Given the description of an element on the screen output the (x, y) to click on. 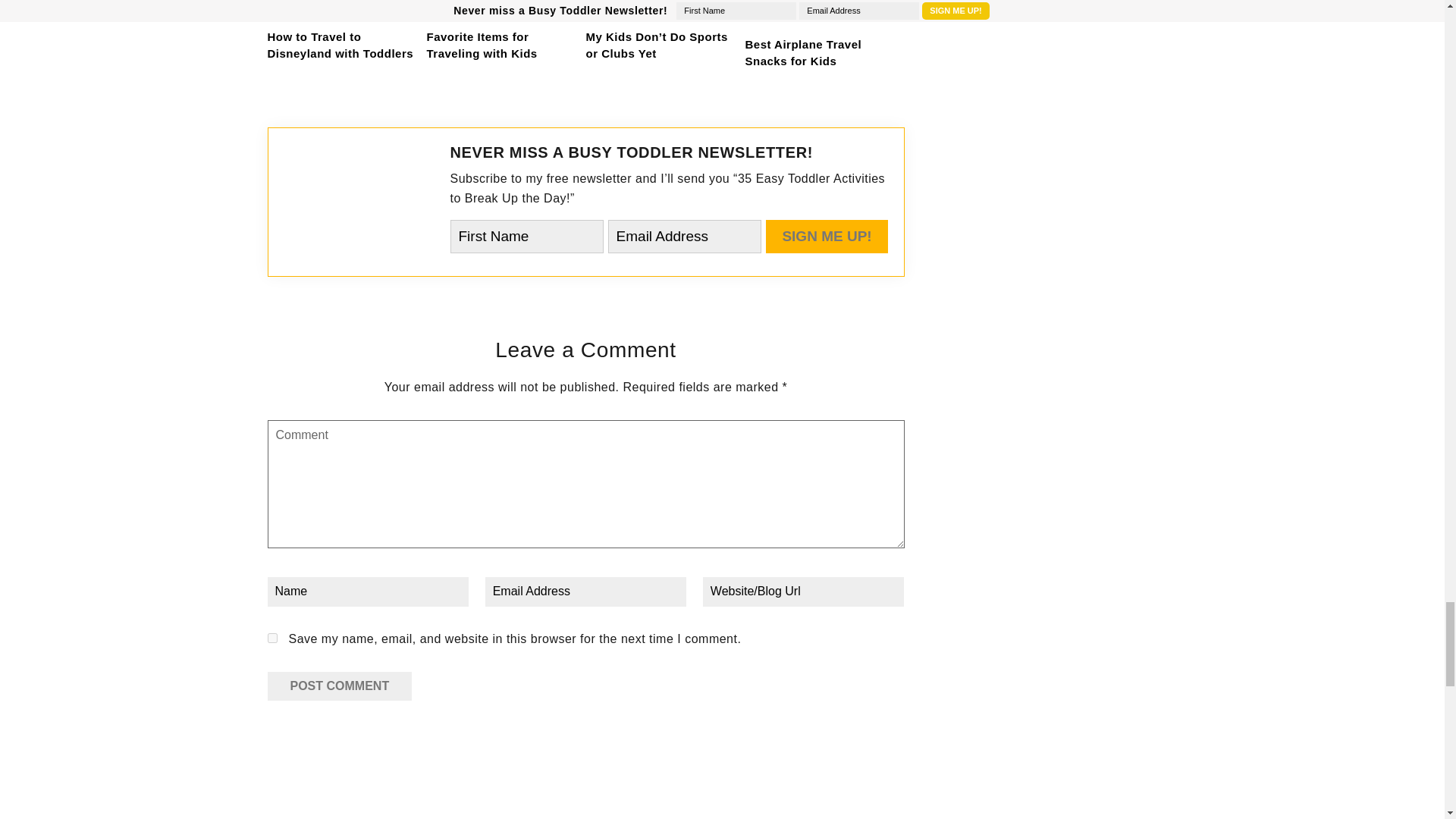
yes (271, 637)
SIGN ME UP! (826, 236)
Post Comment (339, 686)
